Given the description of an element on the screen output the (x, y) to click on. 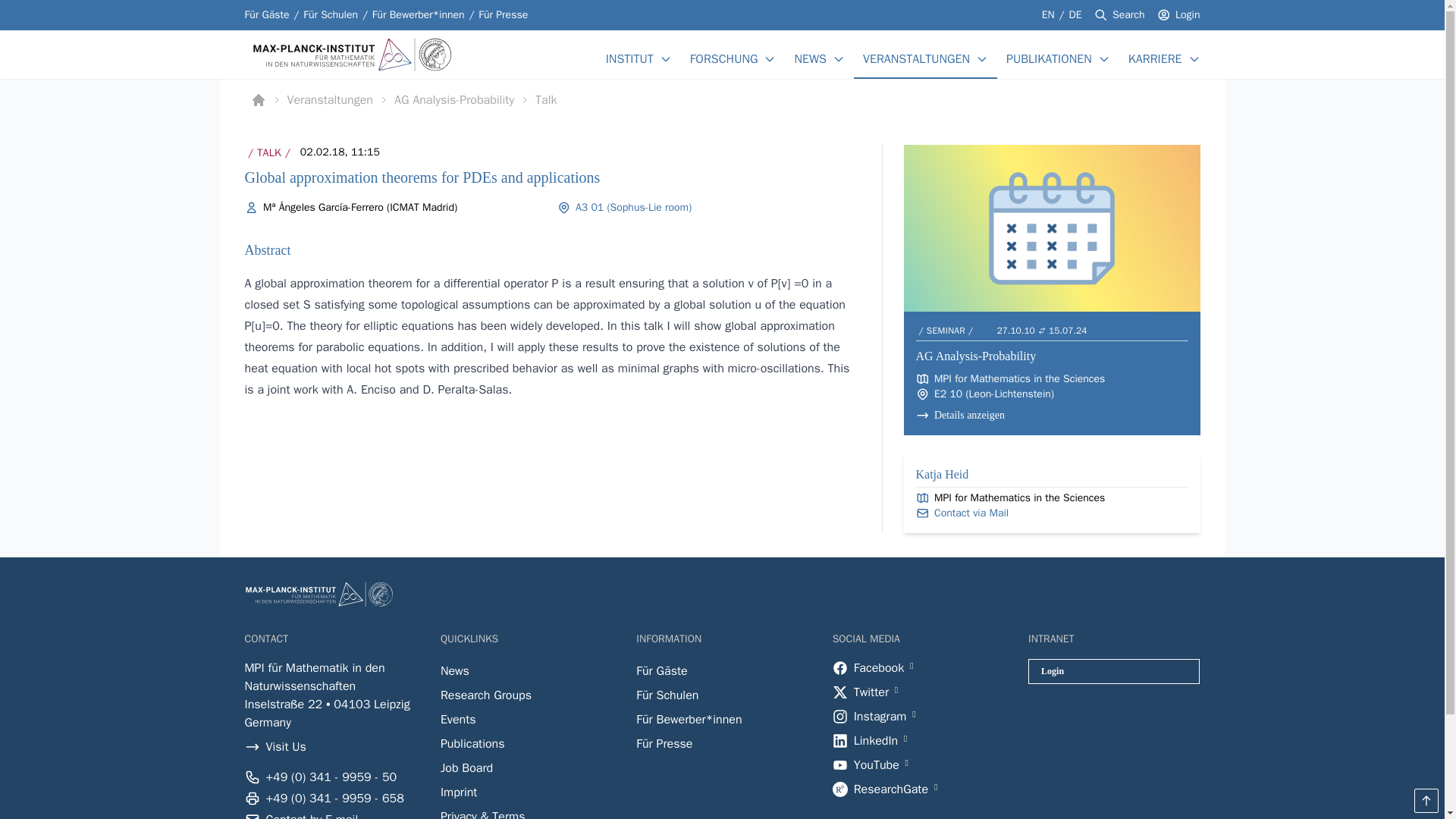
Search (1128, 14)
Login (1186, 14)
DE (1074, 14)
INSTITUT (629, 58)
Institut (629, 58)
PUBLIKATIONEN (1049, 58)
VERANSTALTUNGEN (916, 58)
EN (1050, 14)
German (1074, 14)
FORSCHUNG (724, 58)
